Given the description of an element on the screen output the (x, y) to click on. 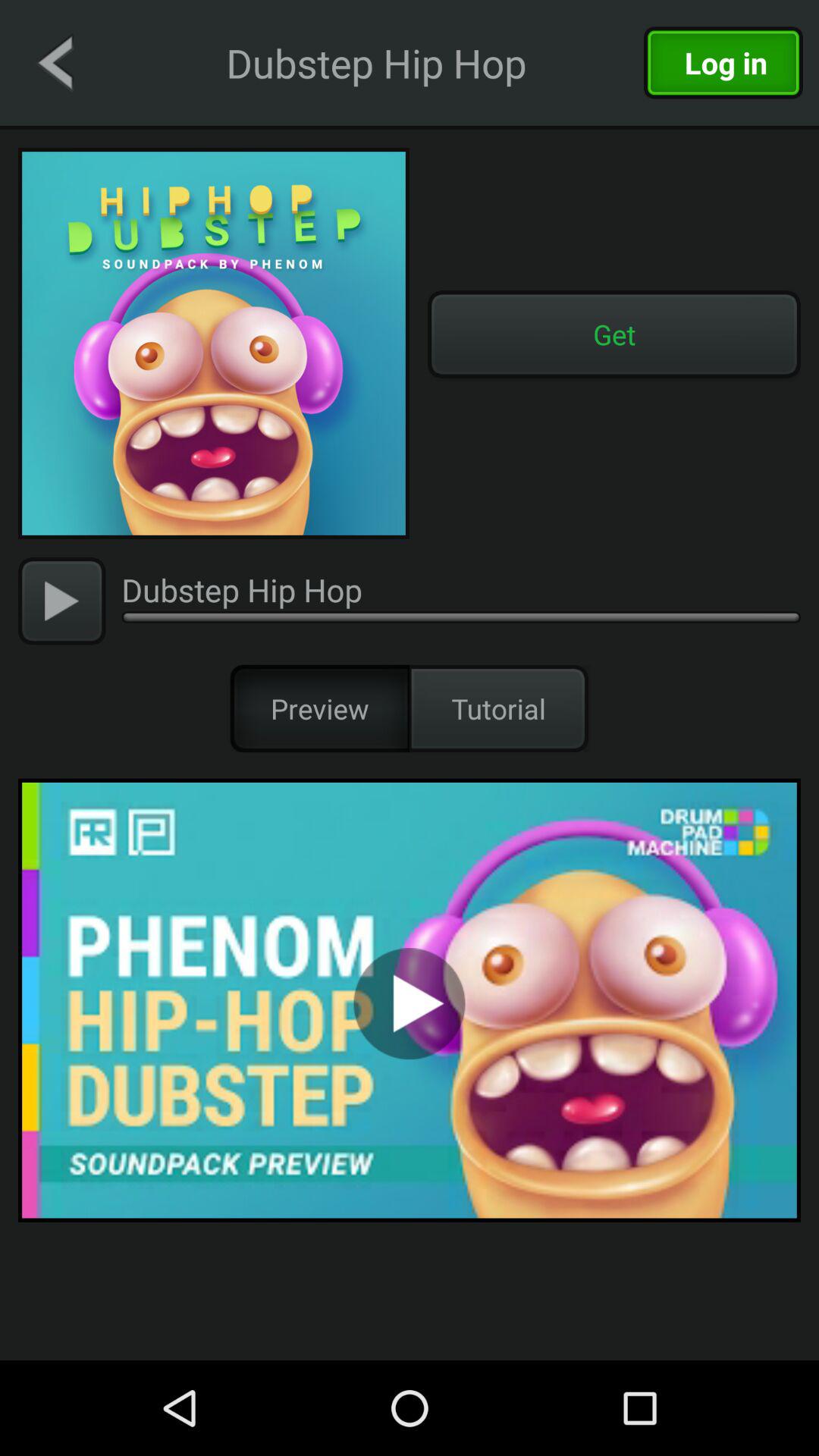
scroll until tutorial icon (498, 708)
